Given the description of an element on the screen output the (x, y) to click on. 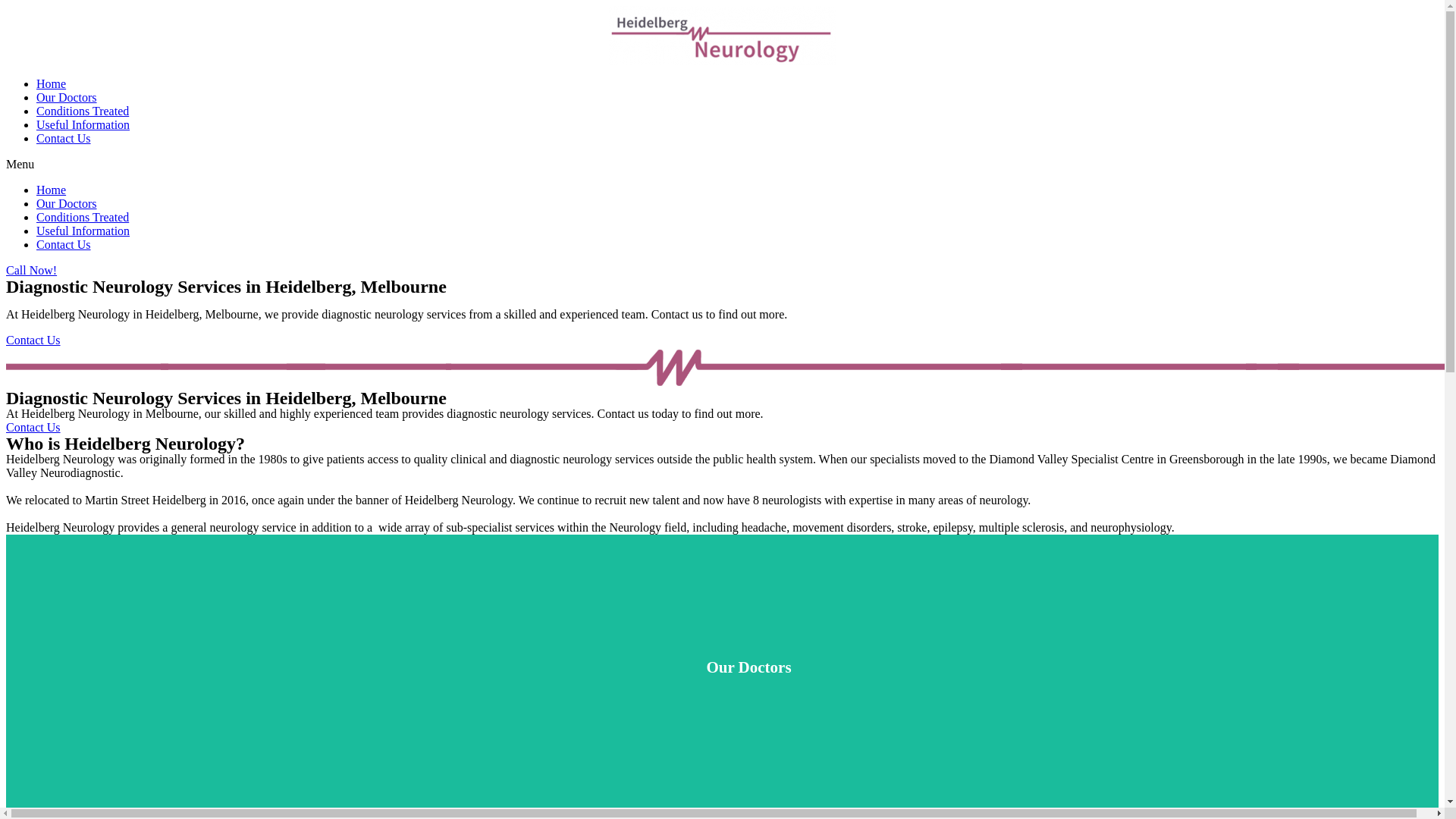
Contact Us Element type: text (63, 244)
Our Doctors Element type: text (66, 97)
Home Element type: text (50, 83)
Call Now! Element type: text (31, 269)
Useful Information Element type: text (82, 230)
Our Doctors Element type: text (66, 203)
Conditions Treated Element type: text (82, 110)
Conditions Treated Element type: text (82, 216)
Contact Us Element type: text (33, 426)
Useful Information Element type: text (82, 124)
Home Element type: text (50, 189)
Contact Us Element type: text (63, 137)
Contact Us Element type: text (33, 339)
